Given the description of an element on the screen output the (x, y) to click on. 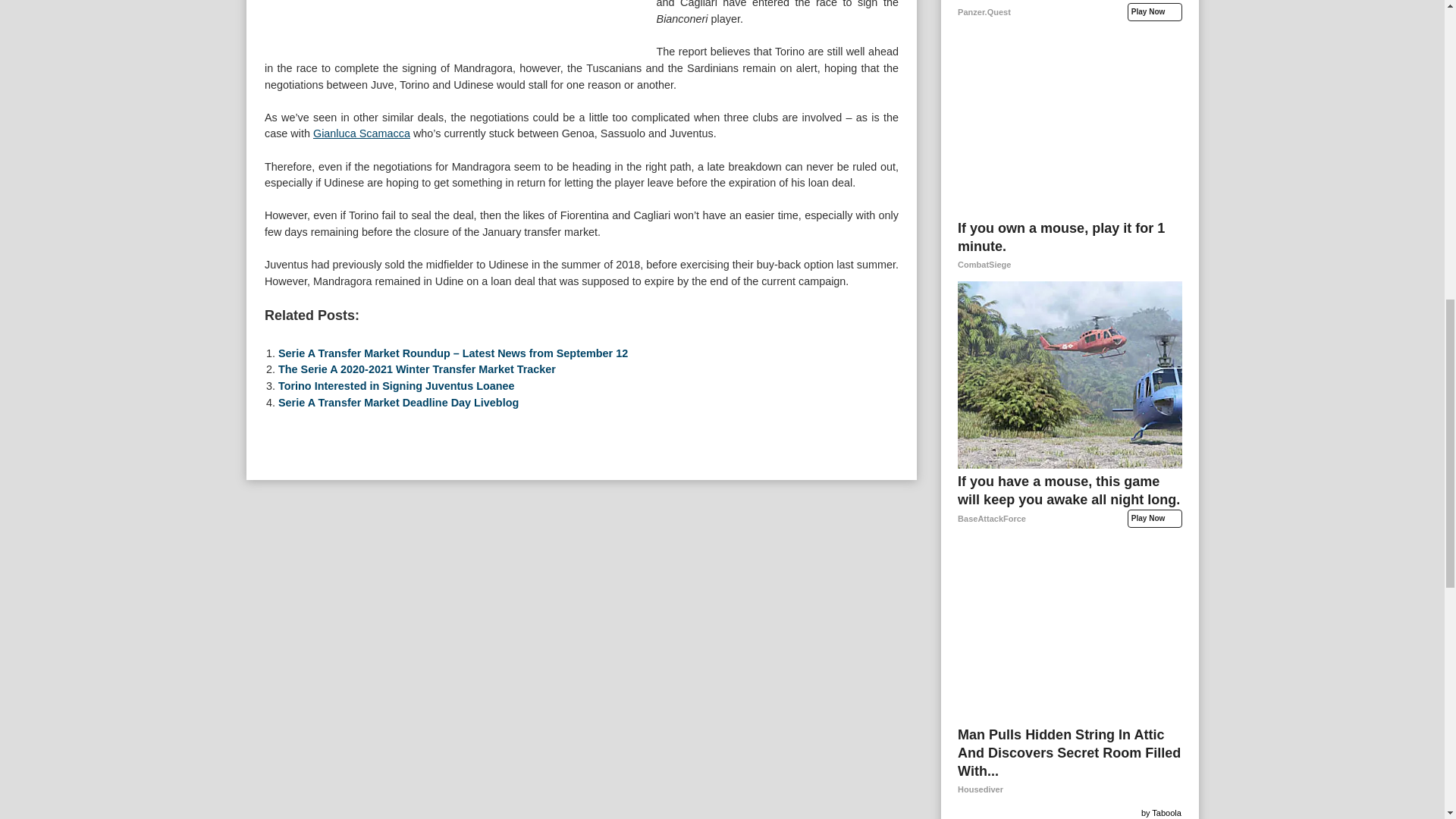
The Serie A 2020-2021 Winter Transfer Market Tracker (417, 609)
Torino Interested in Signing Juventus Loanee (396, 625)
Serie A Transfer Market Deadline Day Liveblog (398, 643)
